Given the description of an element on the screen output the (x, y) to click on. 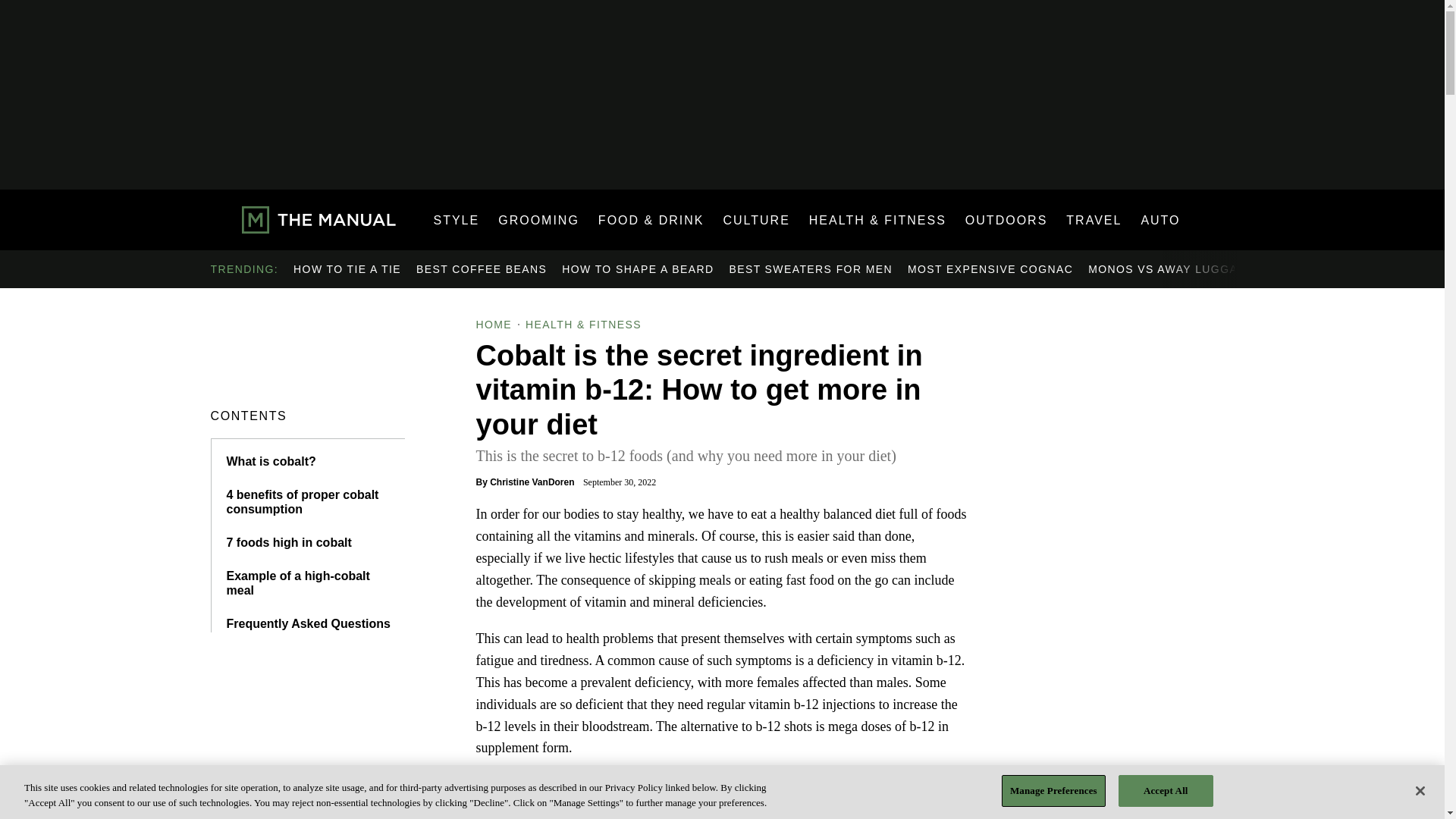
CULTURE (755, 219)
OUTDOORS (1005, 219)
TRAVEL (1093, 219)
GROOMING (538, 219)
